Given the description of an element on the screen output the (x, y) to click on. 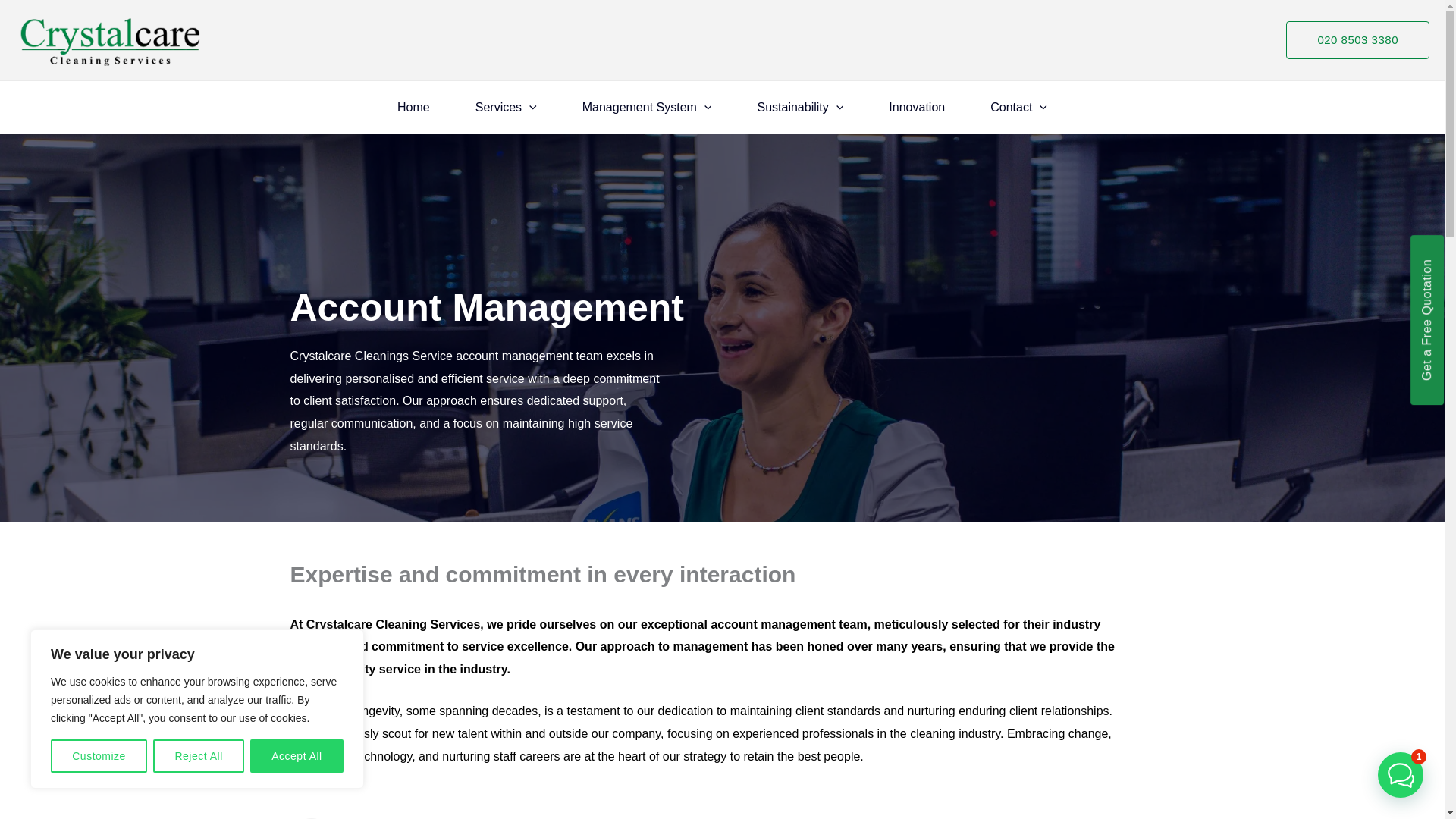
Services (505, 107)
Customize (98, 756)
Home (413, 107)
Management System (647, 107)
020 8503 3380 (1357, 39)
Reject All (198, 756)
Accept All (296, 756)
